Given the description of an element on the screen output the (x, y) to click on. 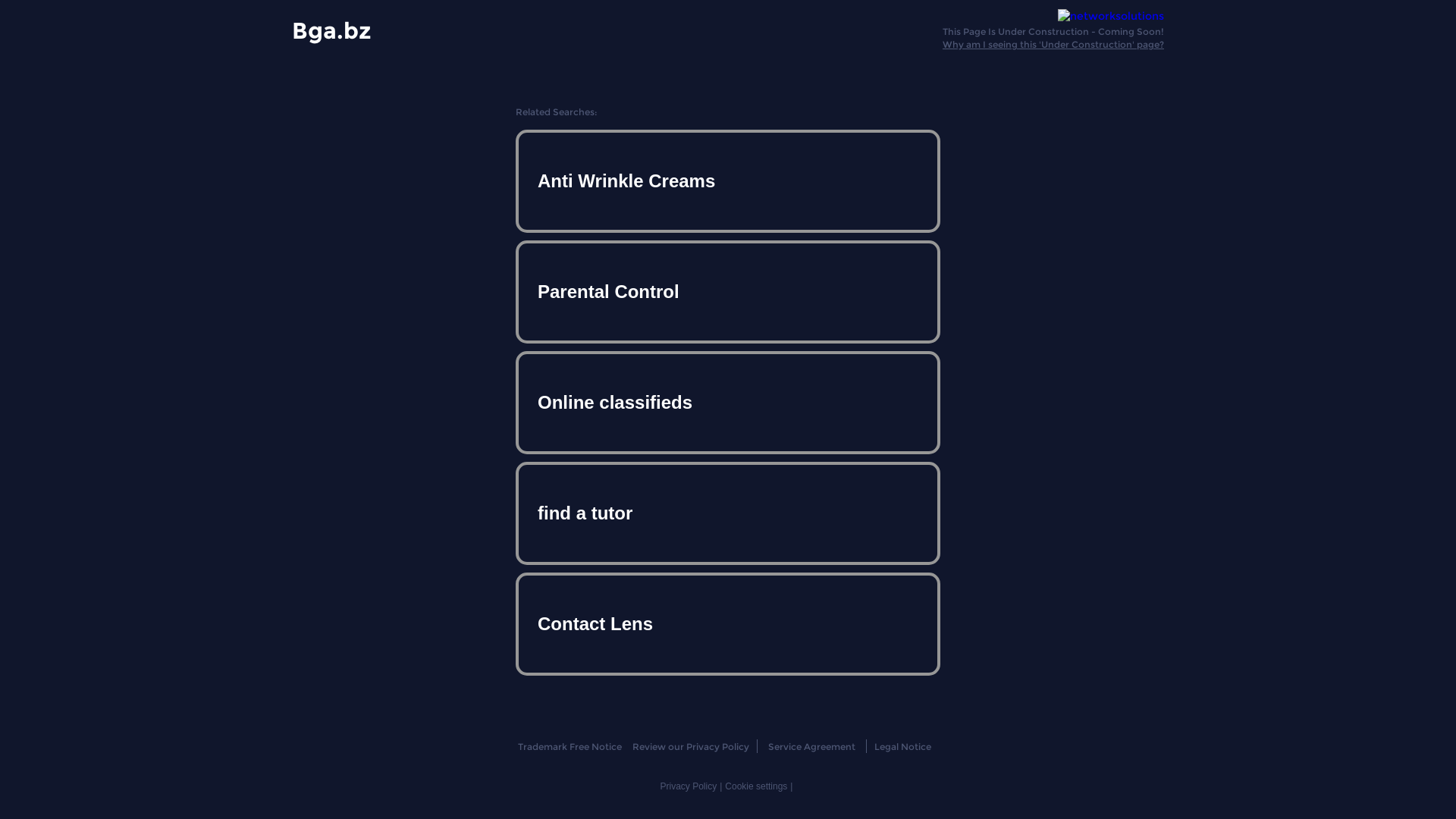
Anti Wrinkle Creams Element type: text (727, 180)
Service Agreement Element type: text (810, 746)
Online classifieds Element type: text (727, 402)
Bga.bz Element type: text (331, 29)
Contact Lens Element type: text (727, 623)
Legal Notice Element type: text (901, 746)
Cookie settings Element type: text (755, 786)
find a tutor Element type: text (727, 512)
Privacy Policy Element type: text (687, 786)
Why am I seeing this 'Under Construction' page? Element type: text (1053, 44)
Trademark Free Notice Element type: text (569, 746)
Review our Privacy Policy Element type: text (690, 746)
Parental Control Element type: text (727, 291)
